Given the description of an element on the screen output the (x, y) to click on. 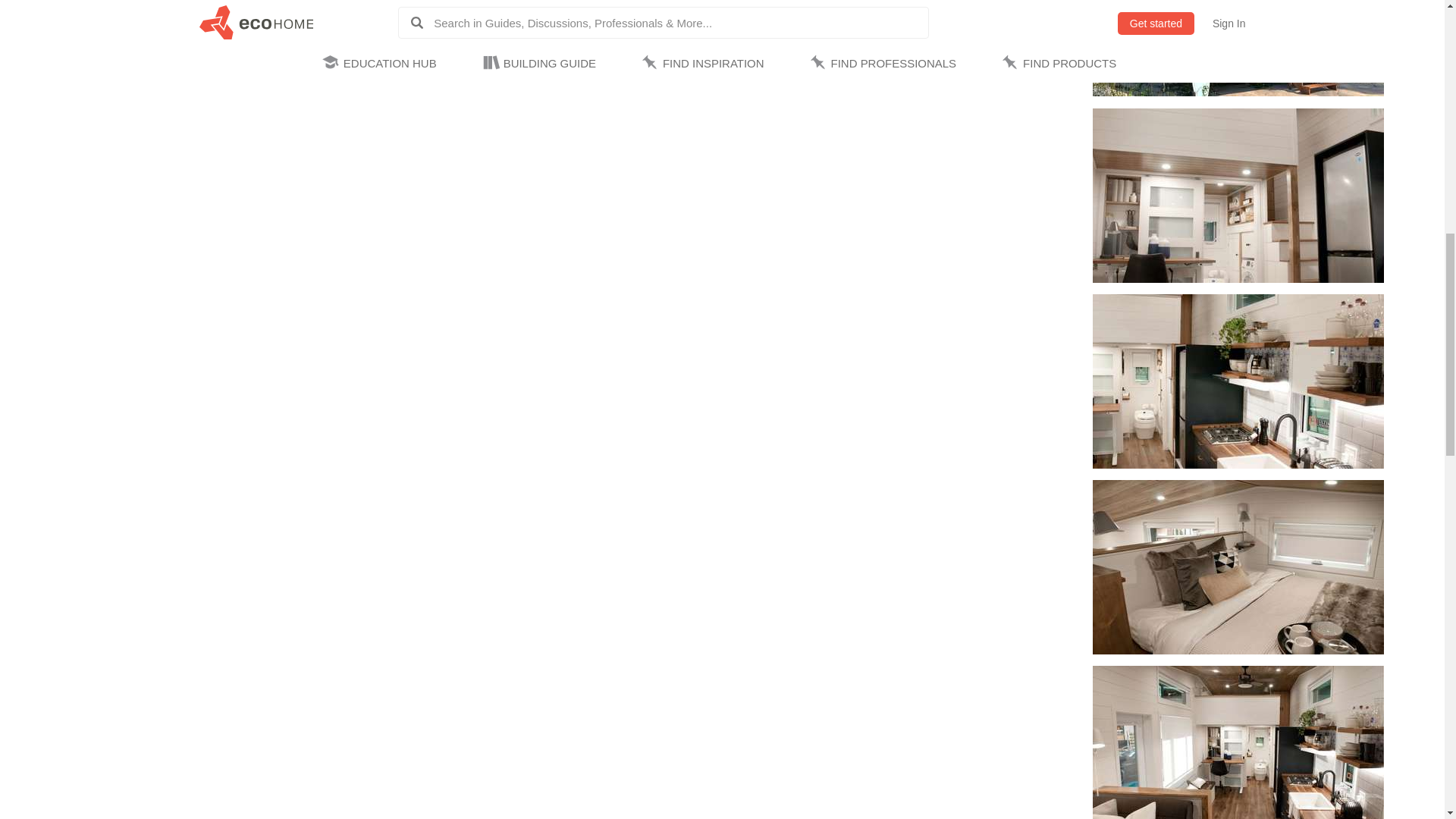
Search Tiny Home (1026, 809)
